Given the description of an element on the screen output the (x, y) to click on. 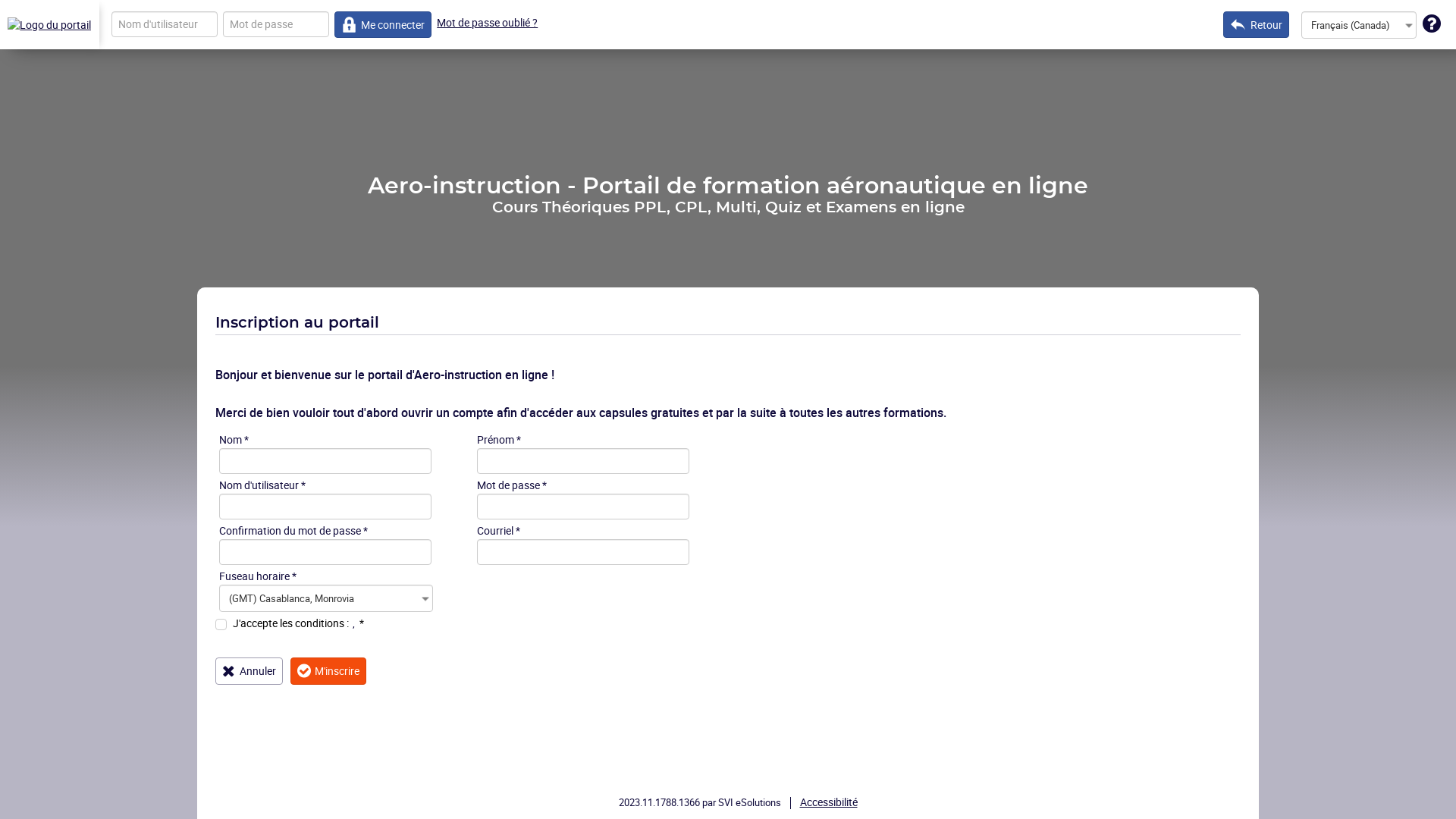
M'inscrire Element type: text (328, 670)
Me connecter Element type: text (383, 23)
M'inscrire Element type: text (328, 670)
Retour Element type: text (1256, 23)
Annuler Element type: text (248, 670)
